Given the description of an element on the screen output the (x, y) to click on. 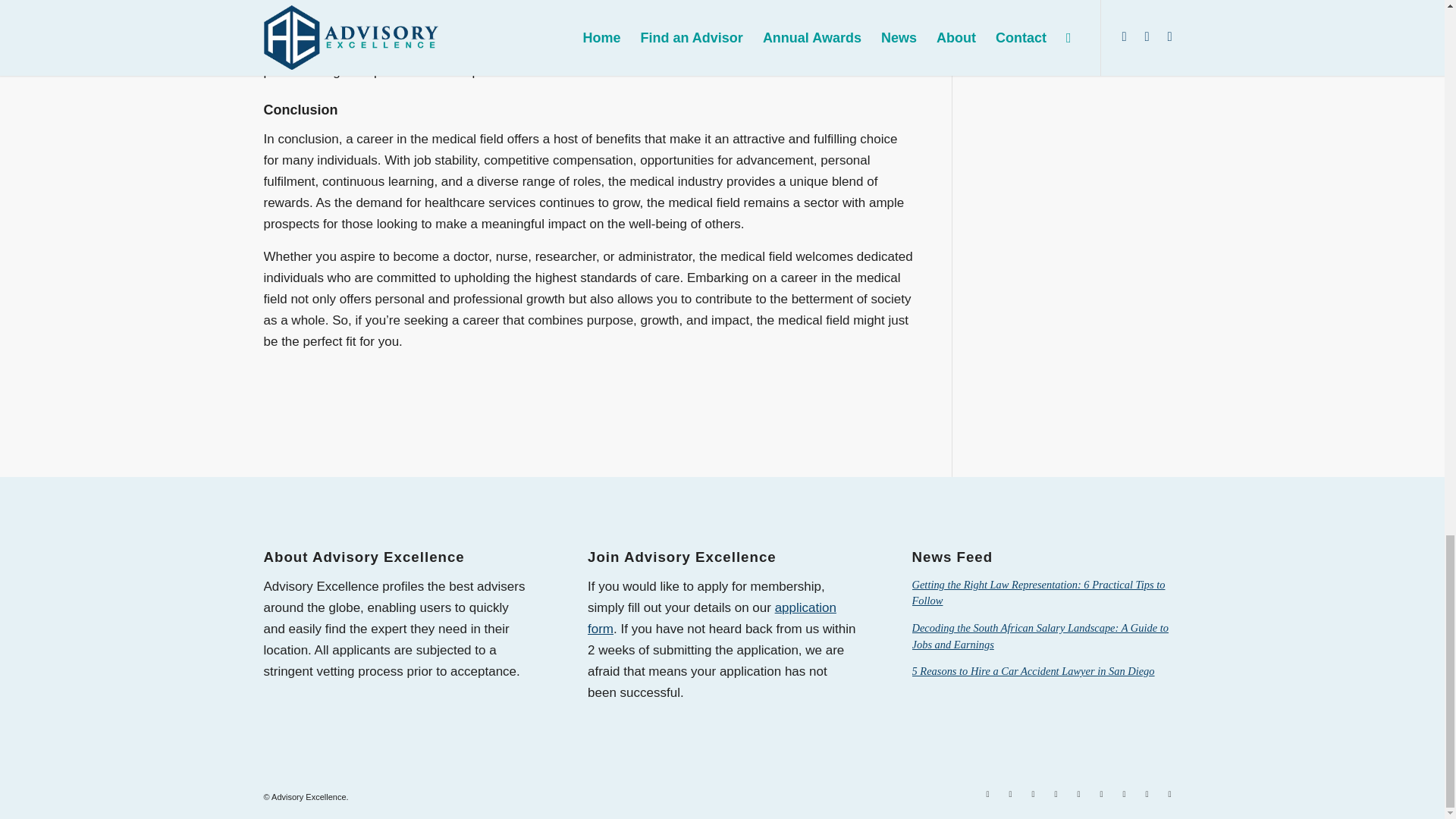
Advisory Excellence (308, 796)
5 Reasons to Hire a Car Accident Lawyer in San Diego (1033, 671)
application form (711, 618)
